Given the description of an element on the screen output the (x, y) to click on. 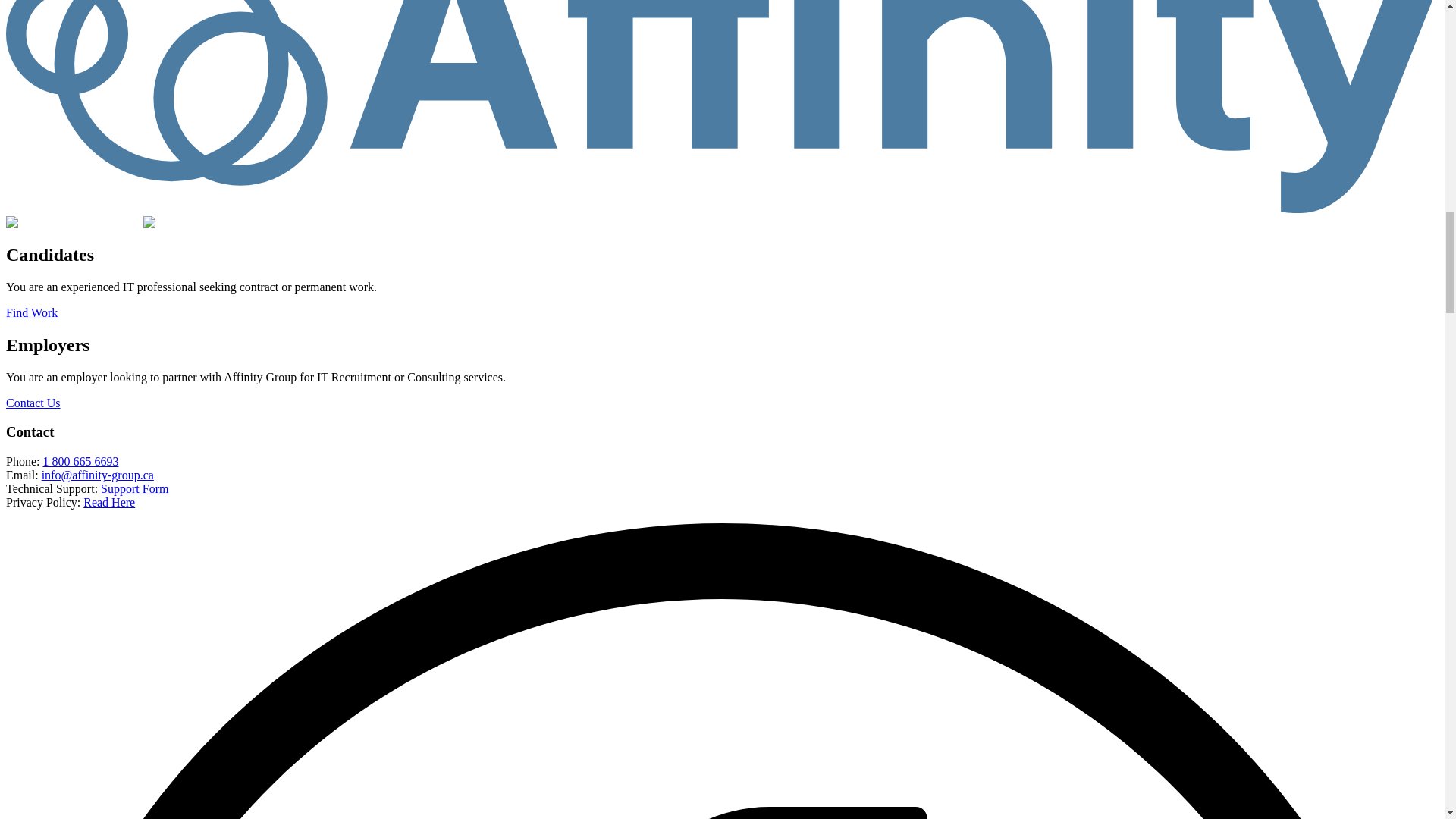
Find Work (31, 312)
1 800 665 6693 (79, 461)
Support Form (134, 488)
Read Here (108, 502)
Contact Us (33, 402)
